Given the description of an element on the screen output the (x, y) to click on. 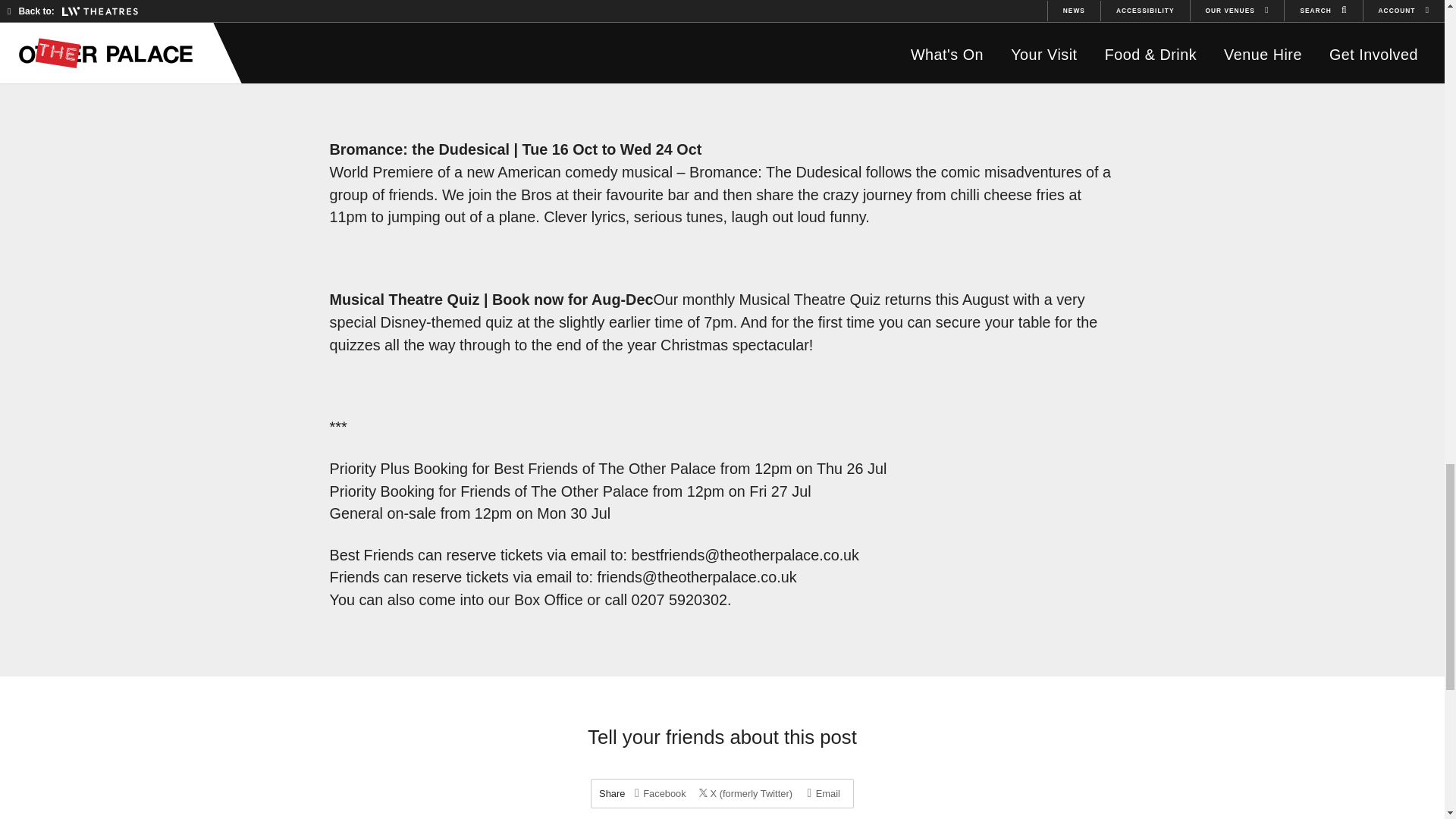
Facebook (659, 793)
Email (822, 793)
